Given the description of an element on the screen output the (x, y) to click on. 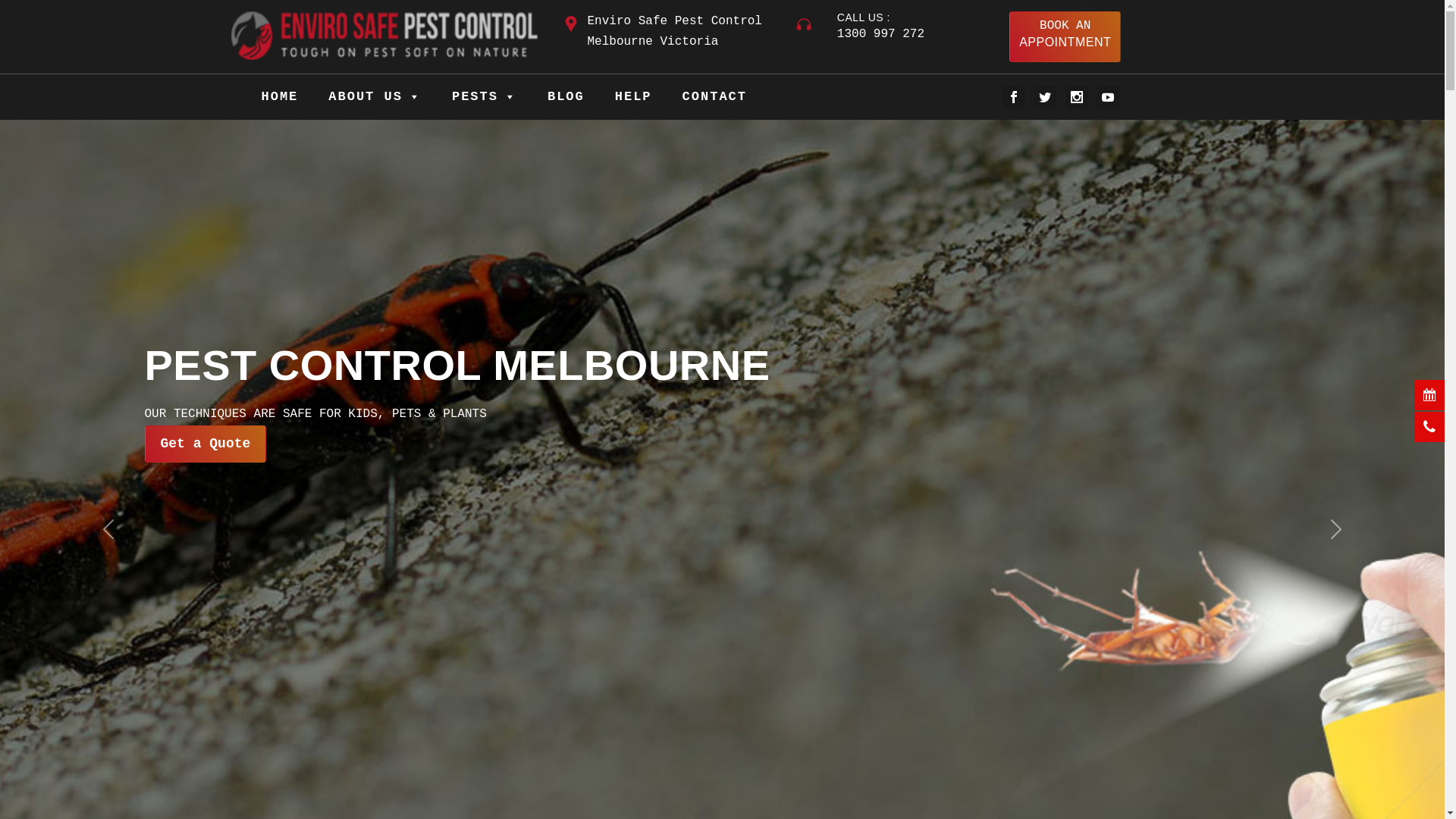
BOOK AN
APPOINTMENT Element type: text (1064, 36)
HOME Element type: text (279, 96)
BLOG Element type: text (565, 96)
1300 997 272 Element type: text (880, 33)
Get a Quote Element type: text (205, 443)
HELP Element type: text (633, 96)
PESTS Element type: text (484, 96)
CONTACT Element type: text (714, 96)
ABOUT US Element type: text (374, 96)
